Given the description of an element on the screen output the (x, y) to click on. 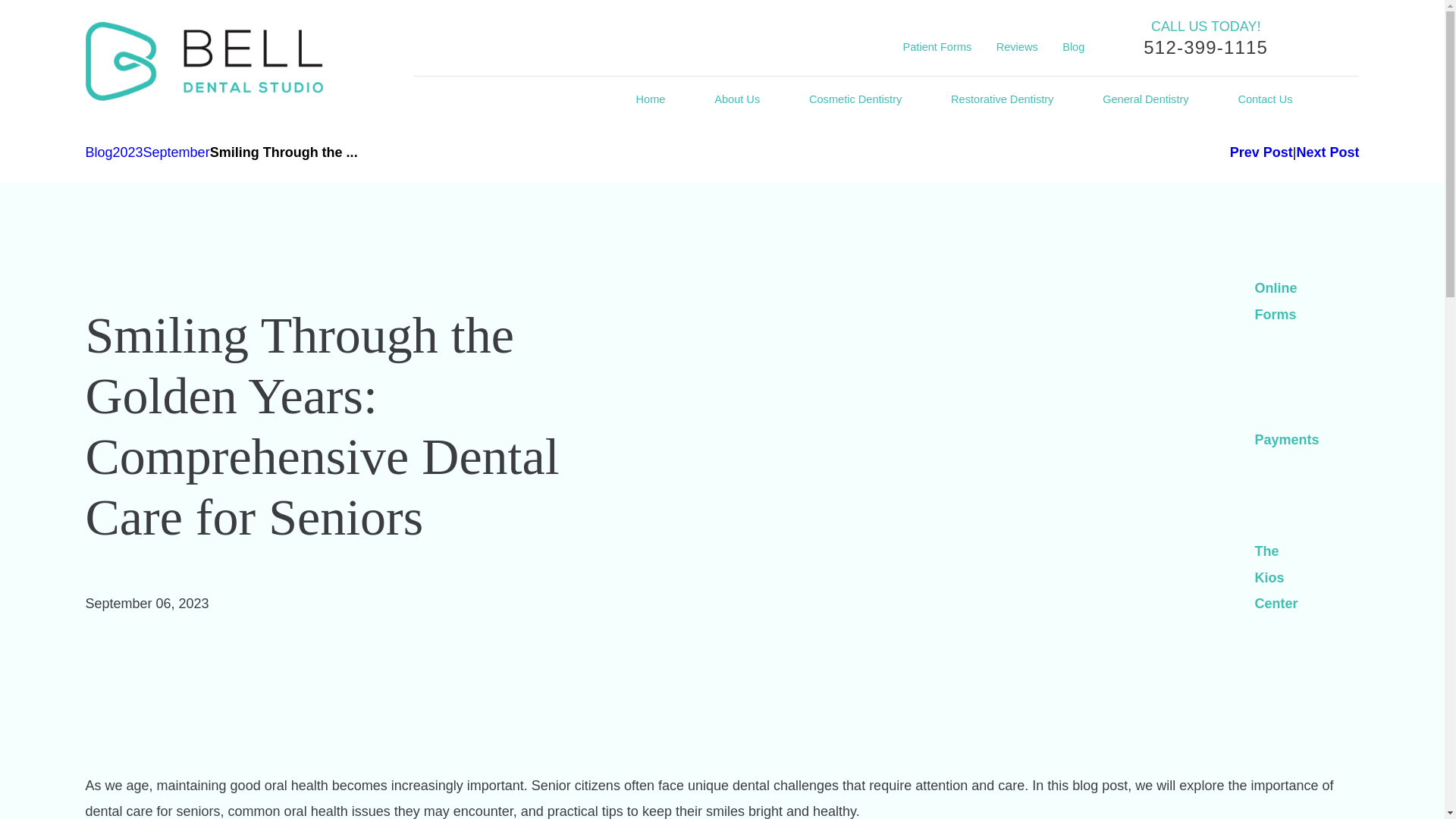
Bell Dental Studio (202, 61)
Patient Forms (937, 46)
Contact Us (1264, 99)
Blog (1073, 46)
About Us (737, 99)
Restorative Dentistry (1001, 99)
Open the accessibility options menu (1423, 798)
General Dentistry (1145, 99)
512-399-1115 (1205, 47)
Cosmetic Dentistry (855, 99)
